Given the description of an element on the screen output the (x, y) to click on. 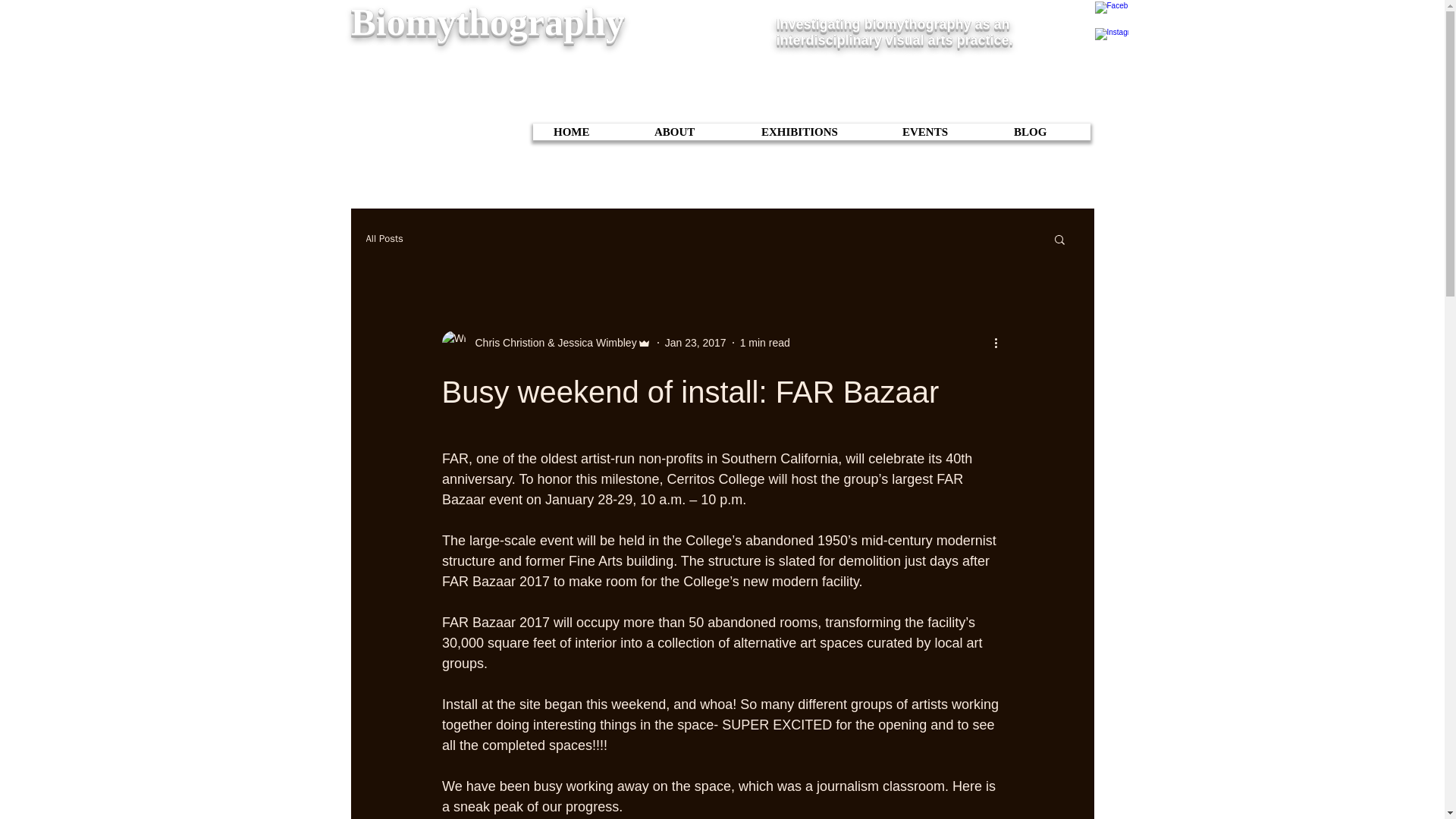
1 min read (764, 342)
All Posts (384, 238)
Jan 23, 2017 (695, 342)
ABOUT (691, 132)
BLOG (1045, 132)
HOME (586, 132)
